Given the description of an element on the screen output the (x, y) to click on. 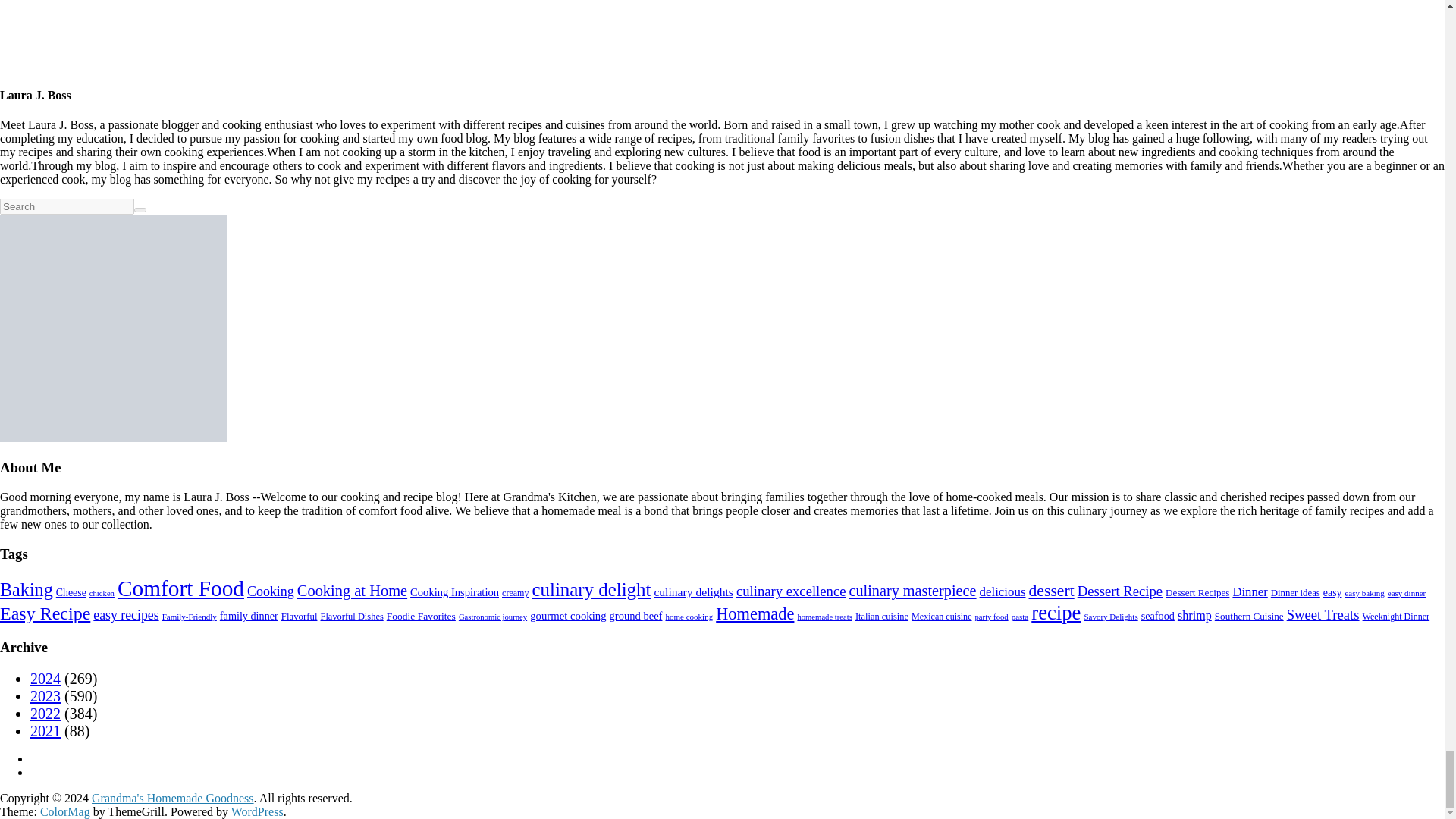
Baking (26, 589)
Comfort Food (180, 588)
chicken (101, 592)
Cheese (70, 592)
